Given the description of an element on the screen output the (x, y) to click on. 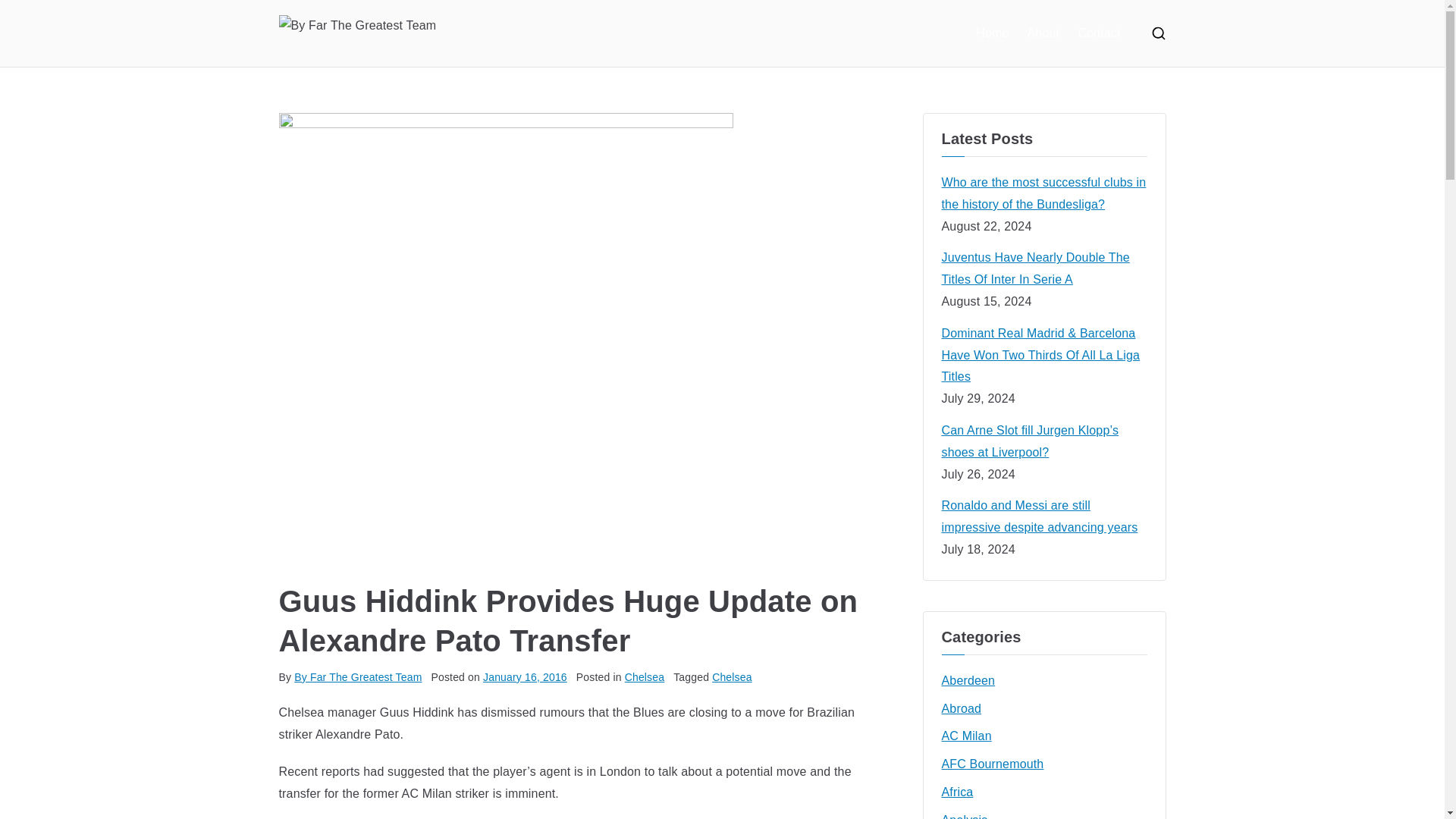
About (1043, 33)
Aberdeen (968, 681)
Home (992, 33)
AFC Bournemouth (992, 764)
By Far The Greatest Team (358, 676)
Chelsea (731, 676)
Juventus Have Nearly Double The Titles Of Inter In Serie A (1044, 269)
Contact (1098, 33)
Search (26, 12)
